Given the description of an element on the screen output the (x, y) to click on. 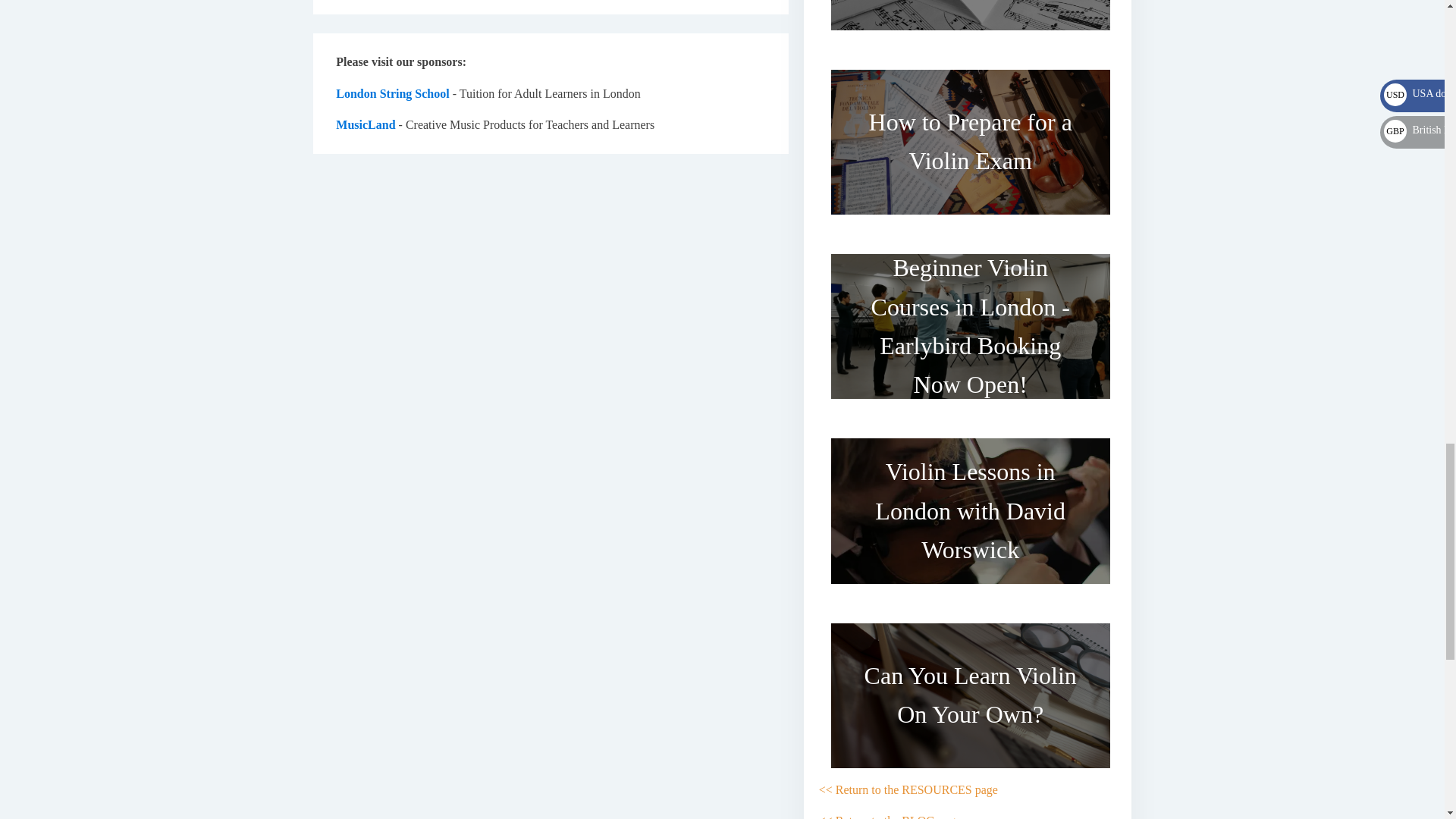
London String School (392, 92)
MusicLand (365, 124)
Why is Music Theory Important? (970, 20)
Violin Lessons in London with David Worswick (970, 510)
How to Prepare for a Violin Exam (970, 141)
Can You Learn Violin On Your Own? (970, 695)
